Given the description of an element on the screen output the (x, y) to click on. 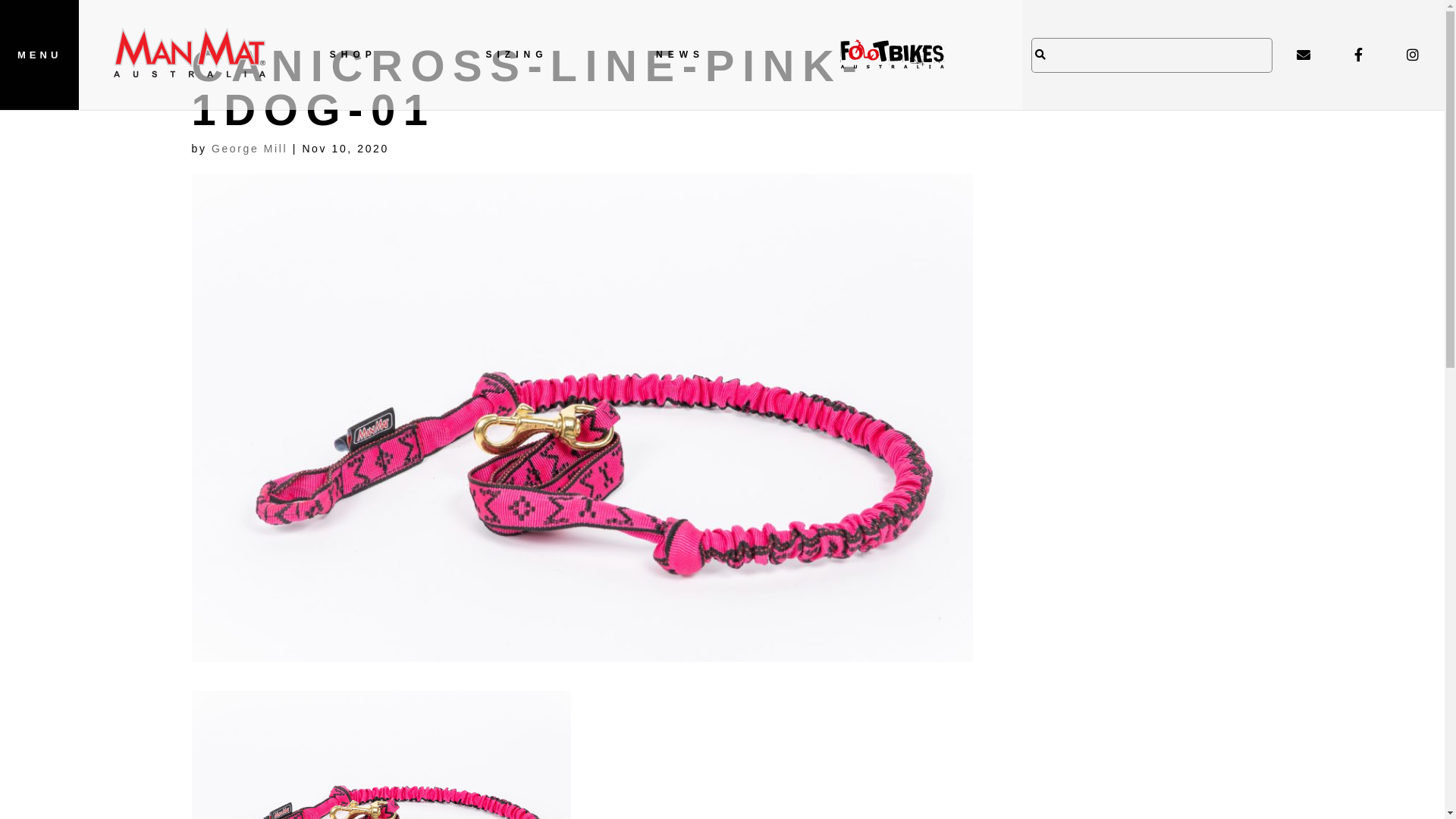
George Mill Element type: text (249, 148)
SIZING Element type: text (517, 54)
SHOP Element type: text (353, 54)
NEWS Element type: text (680, 54)
MENU Element type: text (39, 54)
